Given the description of an element on the screen output the (x, y) to click on. 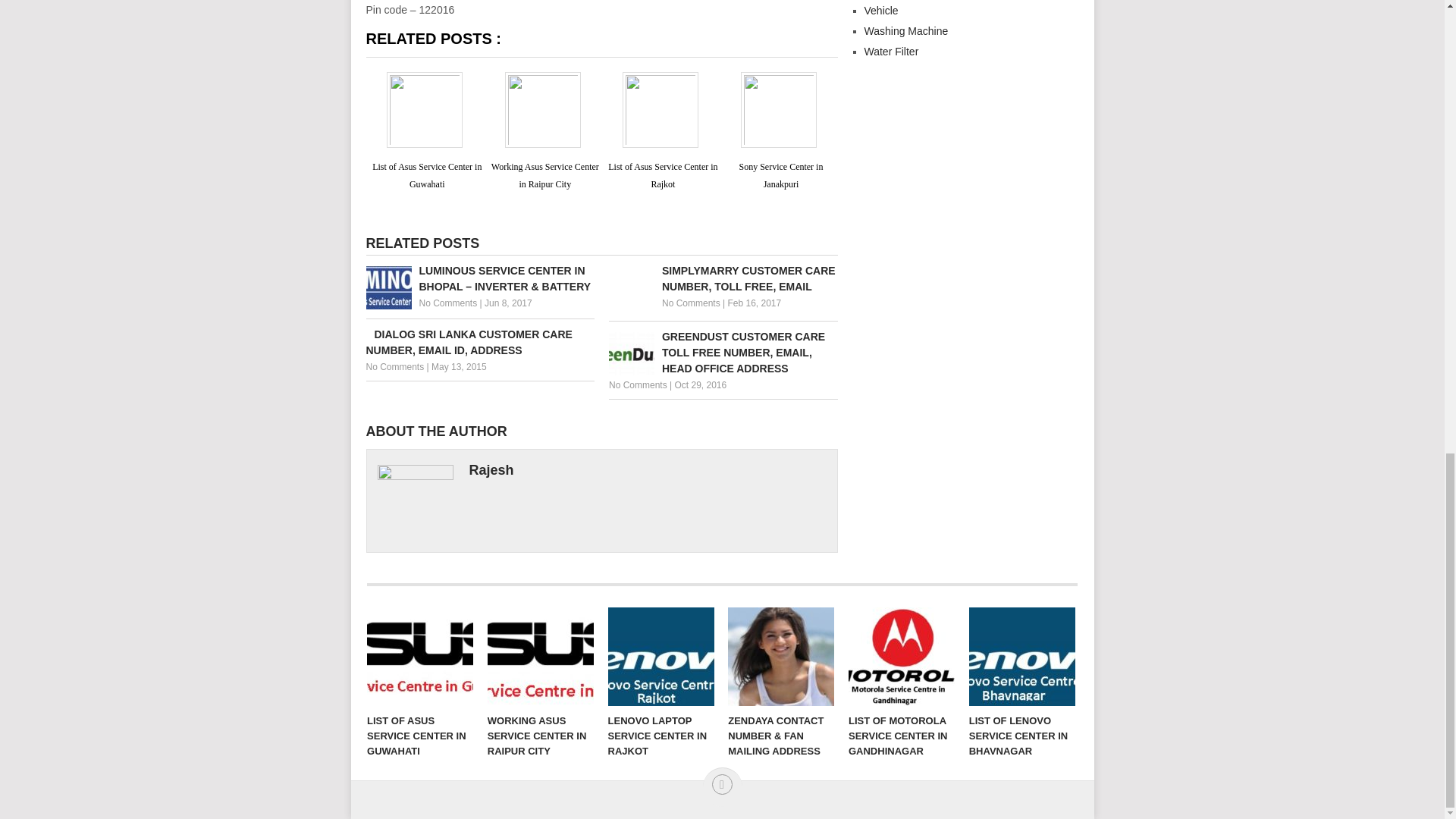
Lenovo Laptop Service Center in Rajkot (661, 656)
Sony Service Center in Janakpuri (780, 175)
Dialog Sri Lanka Customer Care Number, Email ID, Address (479, 342)
List of Asus Service Center in Rajkot (662, 175)
No Comments (637, 385)
SimplyMarry Customer Care Number, Toll Free, Email (723, 278)
No Comments (691, 303)
Working Asus Service Center in Raipur City (545, 175)
Working Asus Service Center in Raipur City (540, 656)
No Comments (448, 303)
SIMPLYMARRY CUSTOMER CARE NUMBER, TOLL FREE, EMAIL (723, 278)
No Comments (394, 366)
List of Asus Service Center in Guwahati (426, 175)
